Given the description of an element on the screen output the (x, y) to click on. 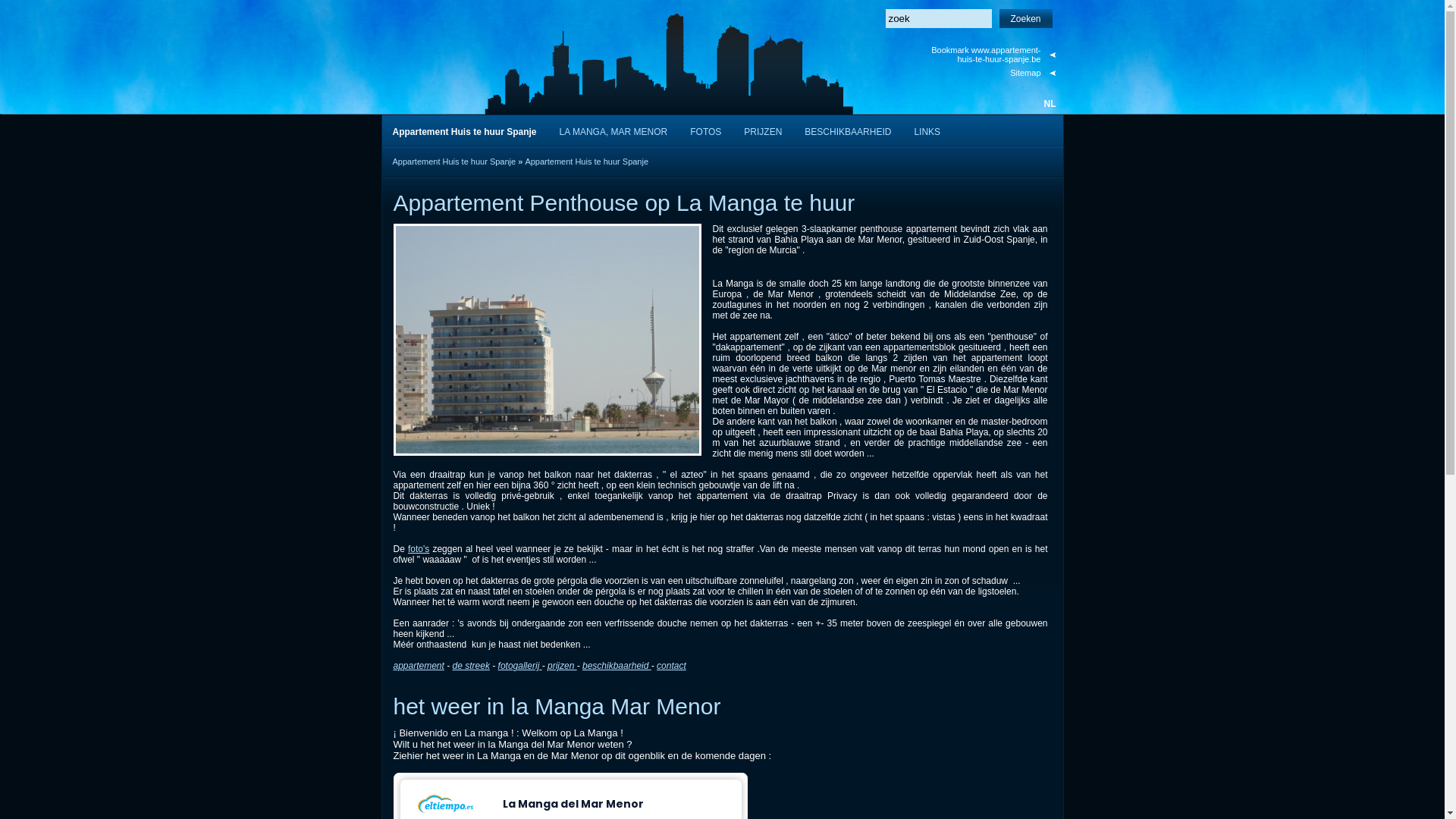
contact Element type: text (671, 665)
prijzen  Element type: text (562, 665)
fotogallerij  Element type: text (520, 665)
PRIJZEN Element type: text (762, 130)
Zoeken Element type: text (1025, 18)
BESCHIKBAARHEID Element type: text (847, 130)
FOTOS Element type: text (705, 130)
Bookmark www.appartement-huis-te-huur-spanje.be Element type: text (991, 54)
Sitemap Element type: text (991, 72)
NL Element type: text (1049, 103)
de streek Element type: text (470, 665)
appartement Element type: text (417, 665)
beschikbaarheid  Element type: text (616, 665)
LINKS Element type: text (926, 130)
Appartement Huis te huur Spanje Element type: text (586, 161)
LA MANGA, MAR MENOR Element type: text (613, 130)
Appartement Huis te huur Spanje Element type: text (463, 130)
Appartement Huis te huur Spanje Element type: text (454, 161)
foto's Element type: text (418, 548)
